Given the description of an element on the screen output the (x, y) to click on. 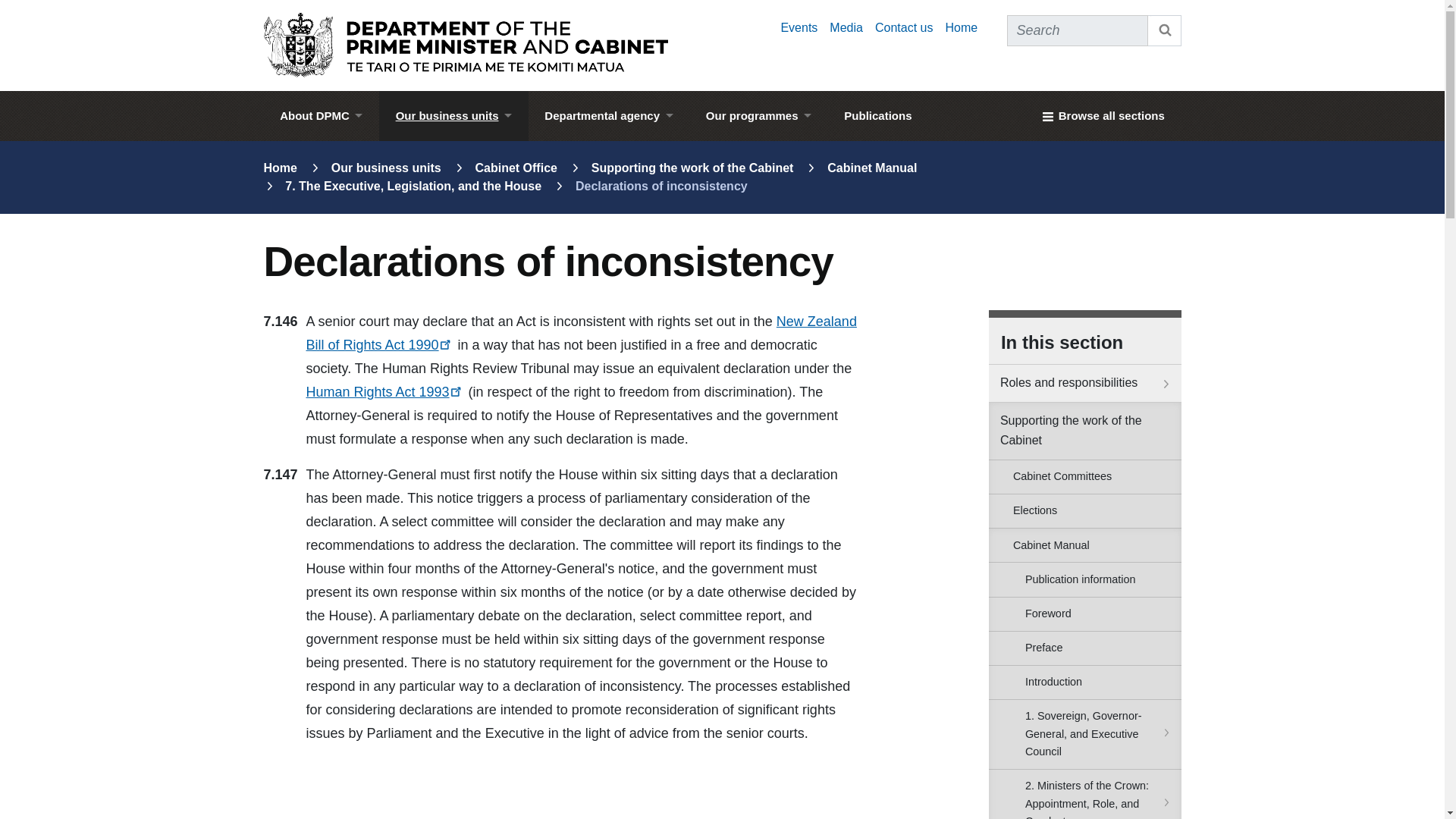
Media (846, 27)
Events (798, 27)
Search (1164, 30)
Home (960, 27)
About DPMC (320, 115)
Skip to main content (722, 5)
Search (1164, 30)
Our business units (453, 115)
Contact us (904, 27)
